Given the description of an element on the screen output the (x, y) to click on. 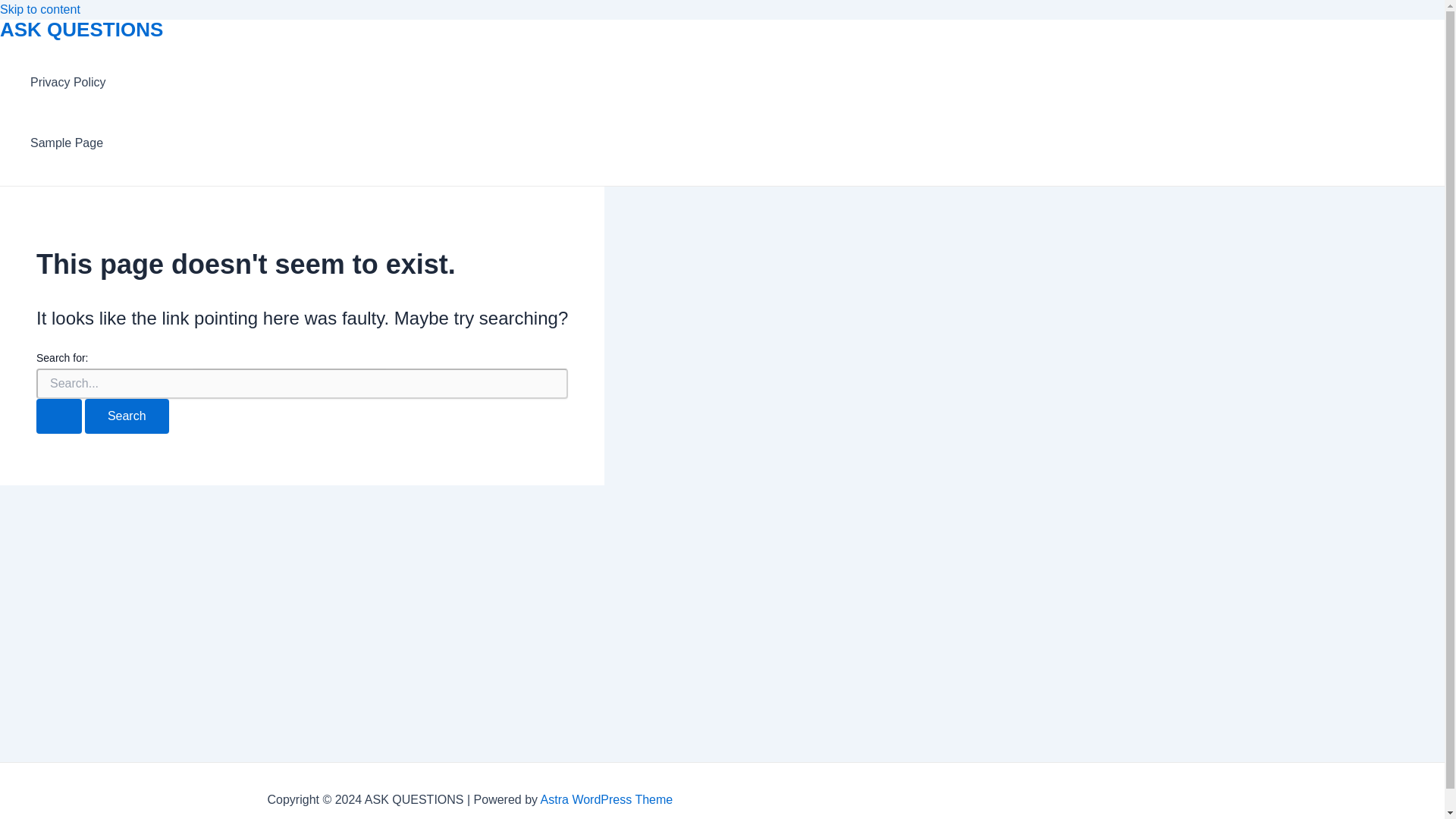
Skip to content (40, 9)
Privacy Policy (68, 82)
Search (126, 416)
Skip to content (40, 9)
Sample Page (68, 143)
Astra WordPress Theme (606, 799)
Search (126, 416)
Search (126, 416)
ASK QUESTIONS (81, 29)
